Given the description of an element on the screen output the (x, y) to click on. 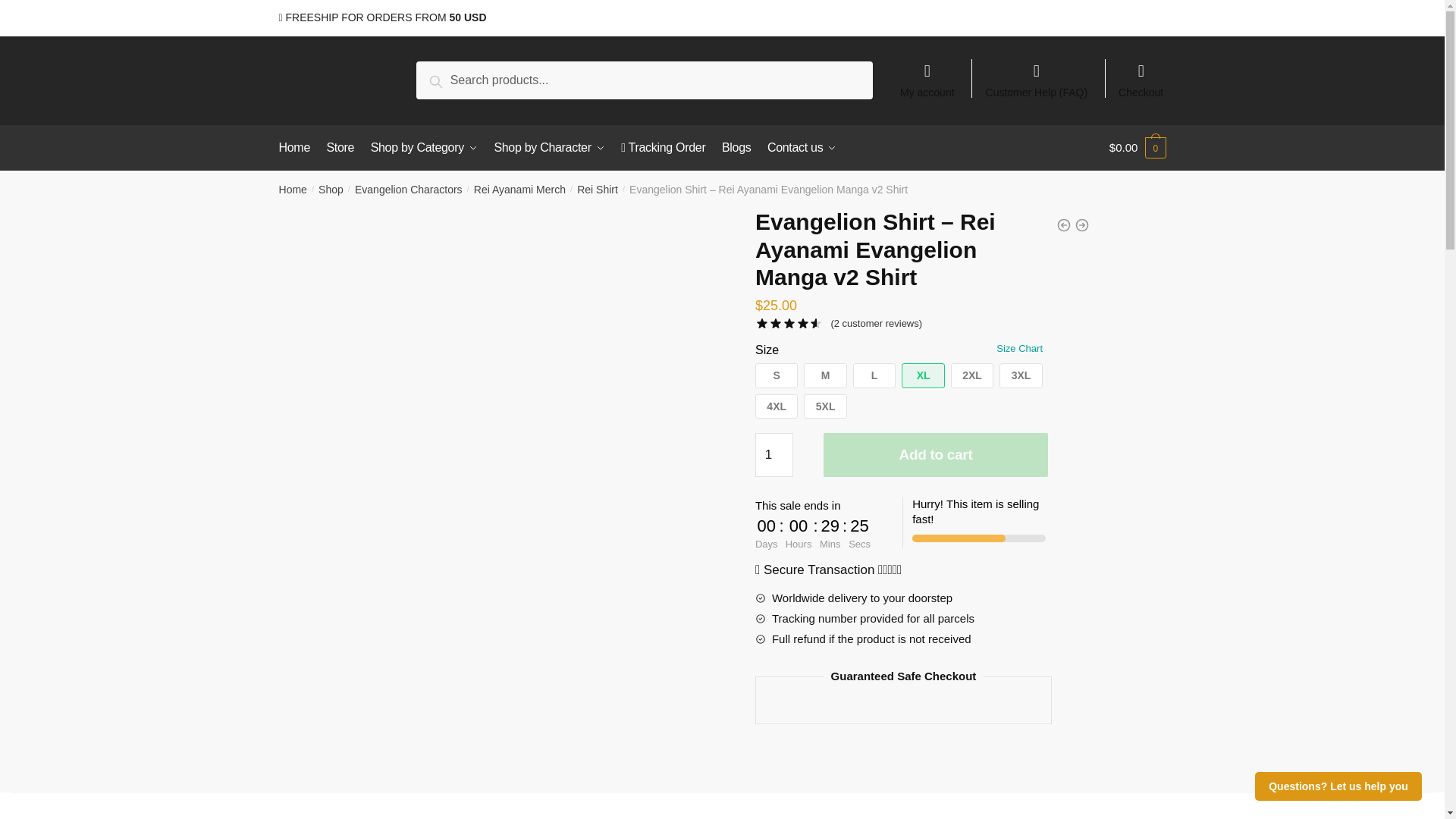
My account (927, 73)
4XL (776, 406)
M (824, 375)
Checkout (1141, 73)
S (776, 375)
L (874, 375)
XL (922, 375)
3XL (1020, 375)
2XL (971, 375)
Shop by Category (424, 147)
